Given the description of an element on the screen output the (x, y) to click on. 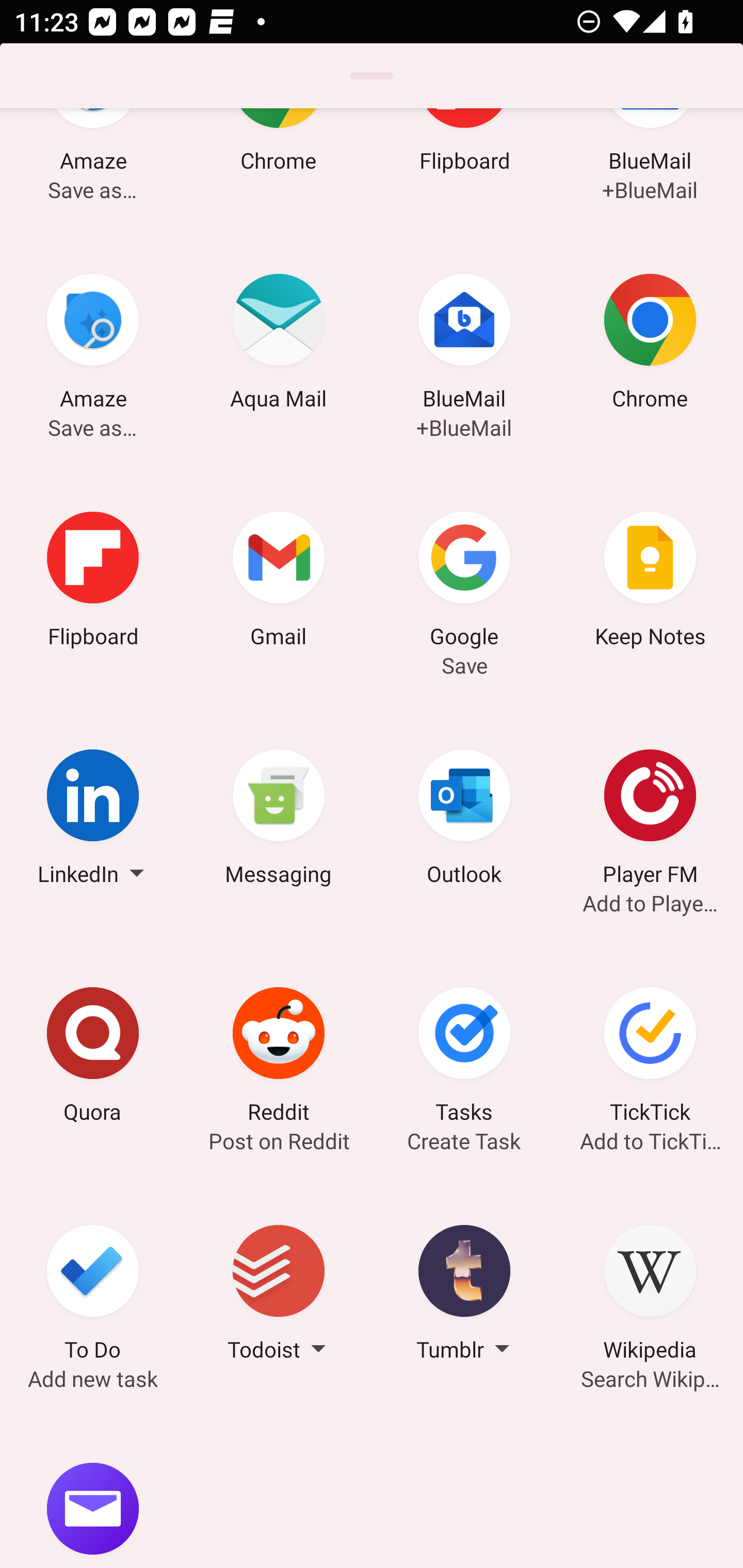
Amaze Save as… (92, 166)
Chrome (278, 166)
Flipboard (464, 166)
BlueMail +BlueMail (650, 166)
Amaze Save as… (92, 344)
Aqua Mail (278, 344)
BlueMail +BlueMail (464, 344)
Chrome (650, 344)
Flipboard (92, 582)
Gmail (278, 582)
Google Save (464, 582)
Keep Notes (650, 582)
LinkedIn (92, 819)
Messaging (278, 819)
Outlook (464, 819)
Player FM Add to Player FM (650, 819)
Quora (92, 1058)
Reddit Post on Reddit (278, 1058)
Tasks Create Task (464, 1058)
TickTick Add to TickTick (650, 1058)
To Do Add new task (92, 1295)
Todoist (278, 1295)
Tumblr (464, 1295)
Wikipedia Search Wikipedia (650, 1295)
